Given the description of an element on the screen output the (x, y) to click on. 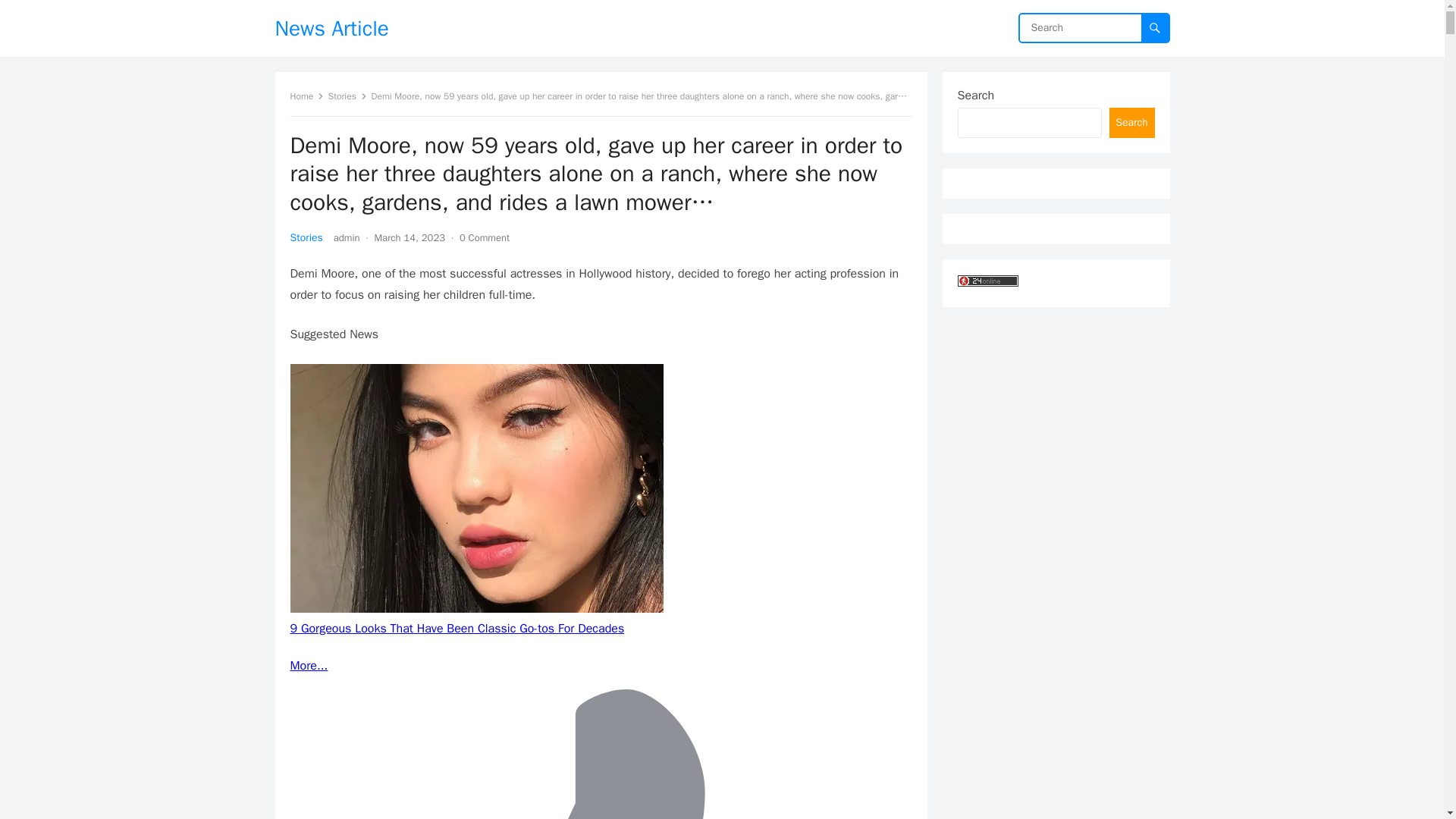
Click to see what's popular on this site! (986, 280)
News Article (331, 28)
Home (306, 96)
Stories (305, 237)
Stories (347, 96)
Posts by admin (346, 237)
admin (346, 237)
0 Comment (484, 237)
